Given the description of an element on the screen output the (x, y) to click on. 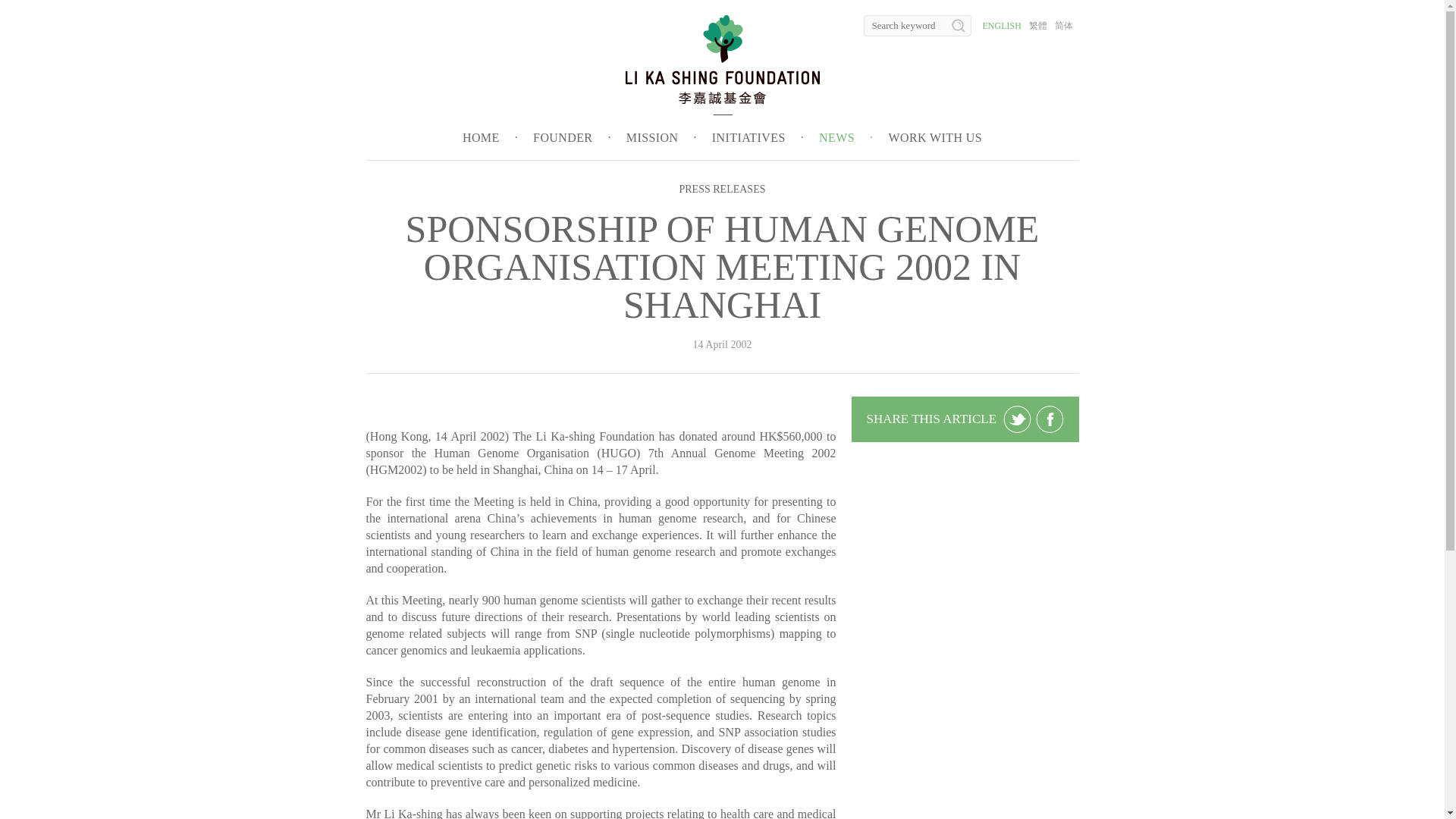
WORK WITH US (934, 137)
ENGLISH (1002, 25)
PRESS RELEASES (722, 188)
